Given the description of an element on the screen output the (x, y) to click on. 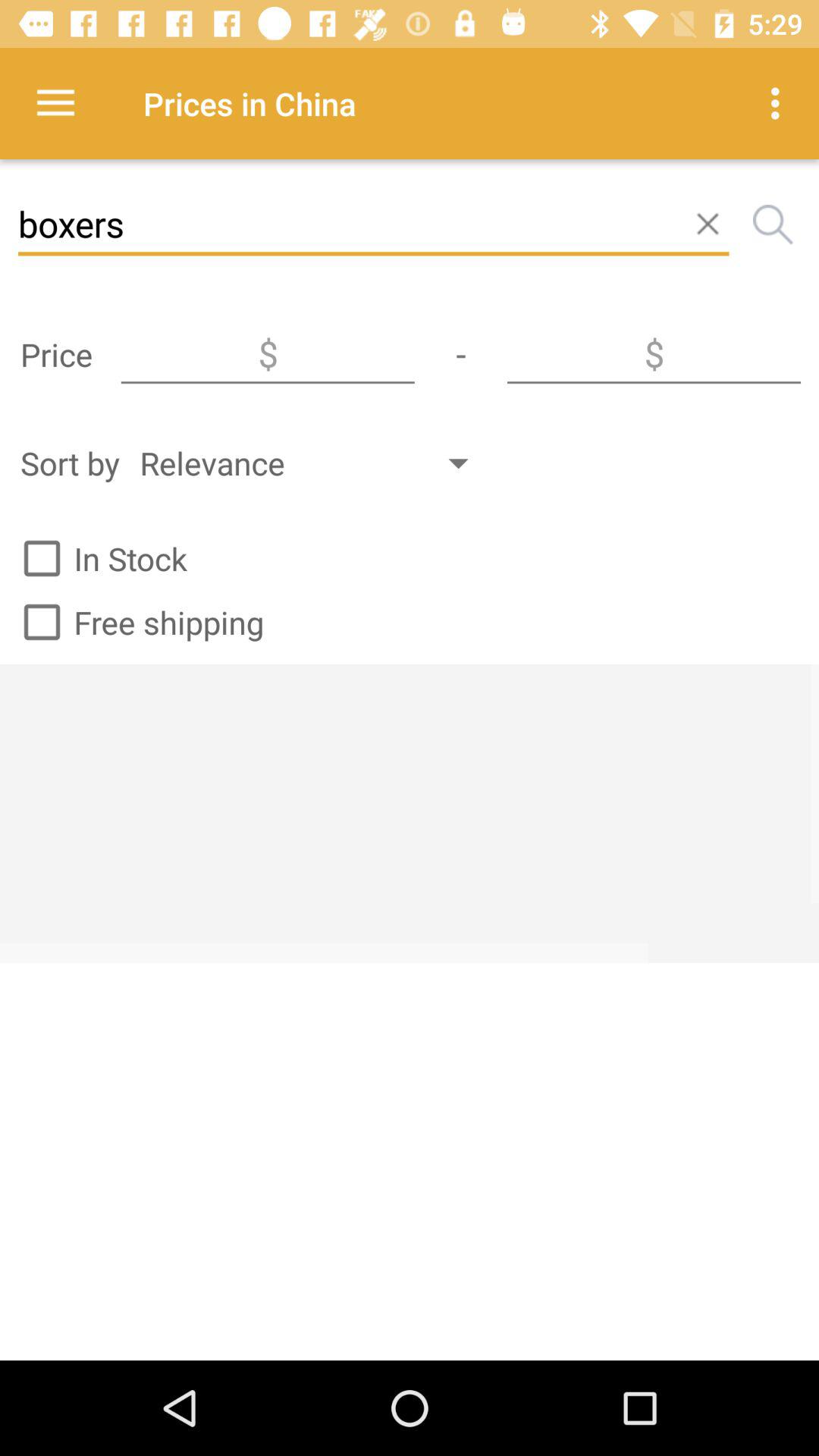
insert a value (653, 354)
